Given the description of an element on the screen output the (x, y) to click on. 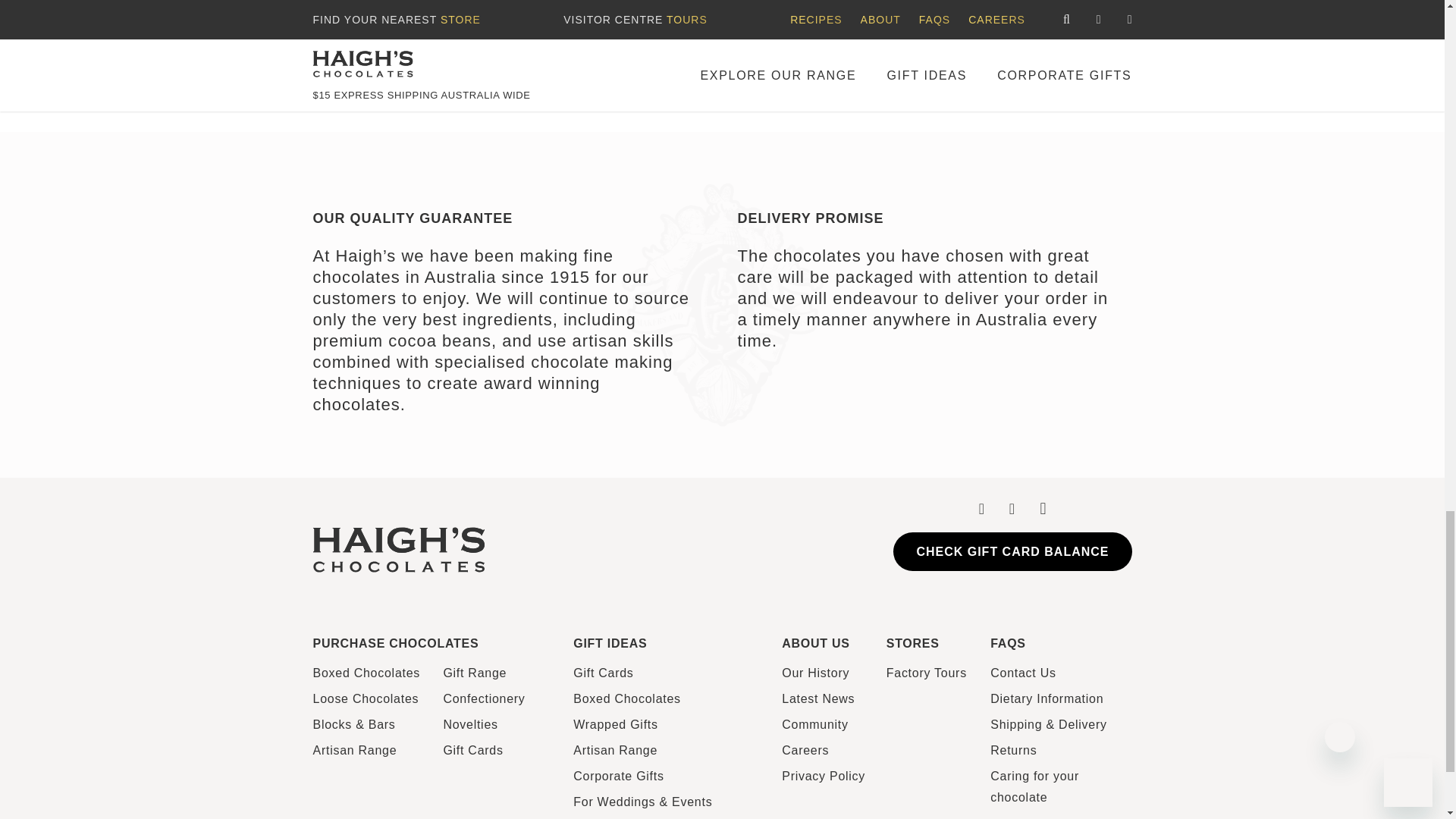
Check Gift Card Balance (1012, 551)
